Given the description of an element on the screen output the (x, y) to click on. 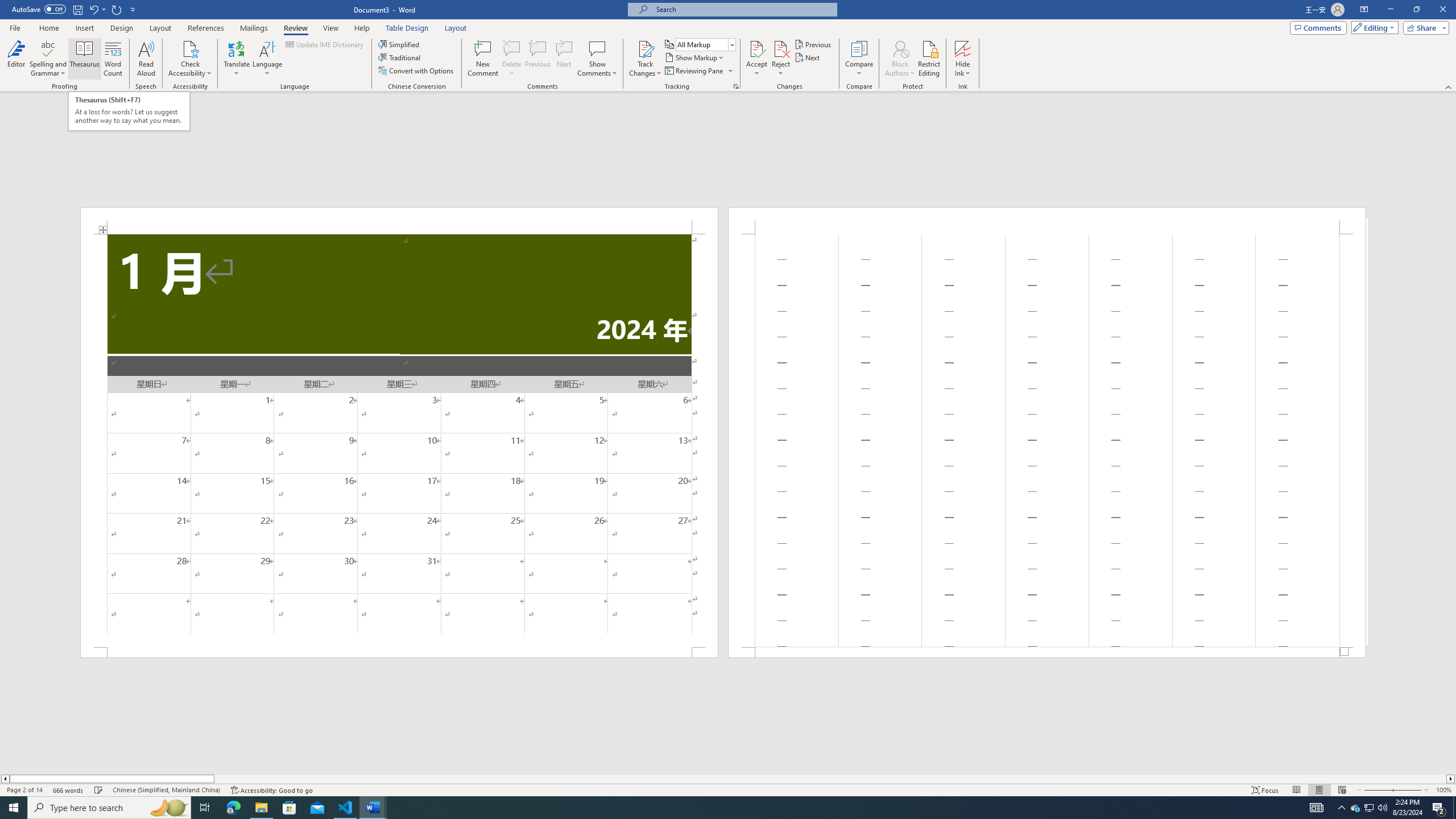
Compare (859, 58)
Page 2 content (1046, 440)
Update IME Dictionary... (324, 44)
Convert with Options... (417, 69)
Next (808, 56)
Word Count 666 words (68, 790)
Read Aloud (145, 58)
Delete (511, 48)
Undo Apply Quick Style (92, 9)
Hide Ink (962, 48)
Check Accessibility (189, 58)
